Given the description of an element on the screen output the (x, y) to click on. 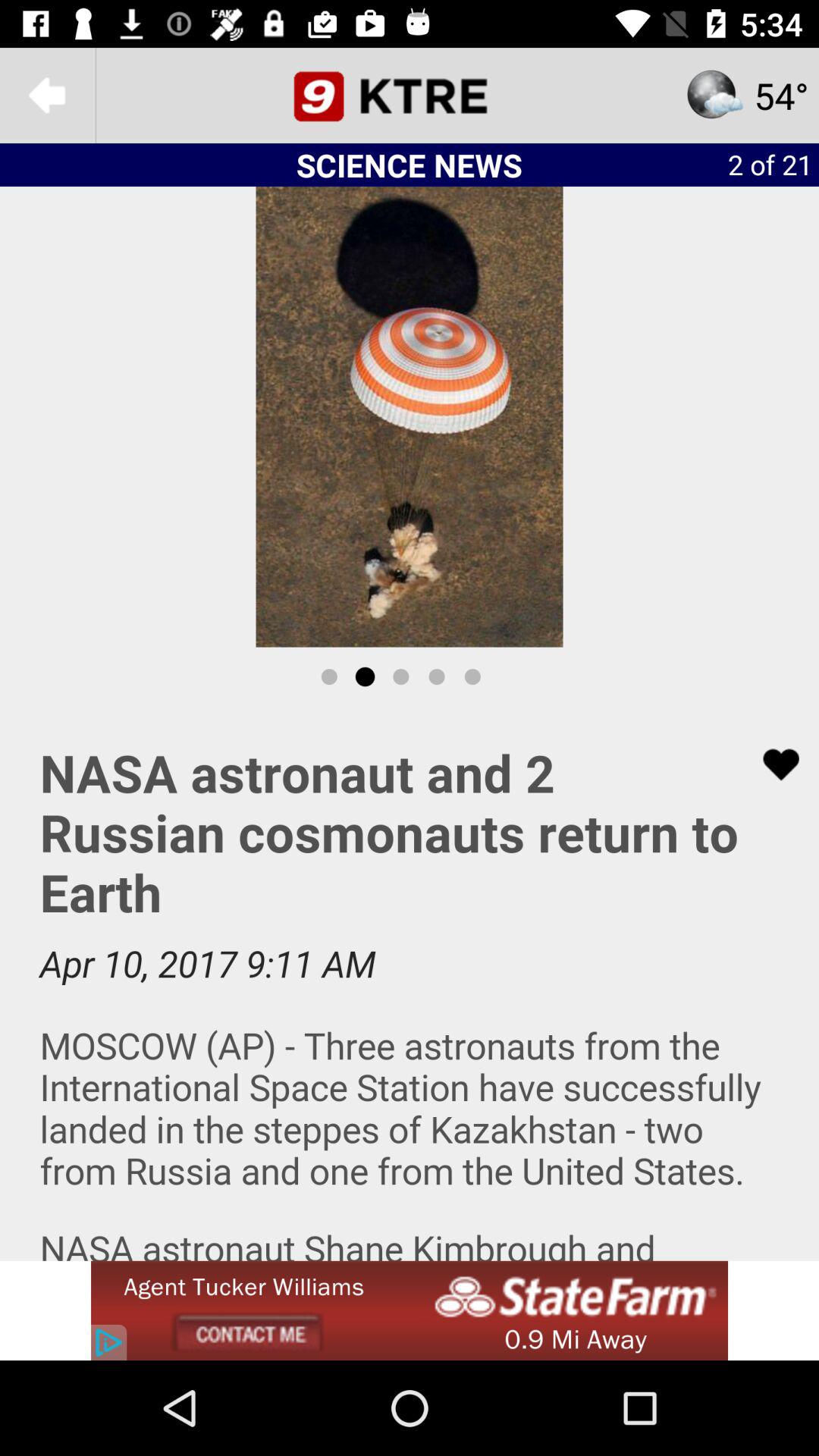
advertisement page (409, 983)
